Given the description of an element on the screen output the (x, y) to click on. 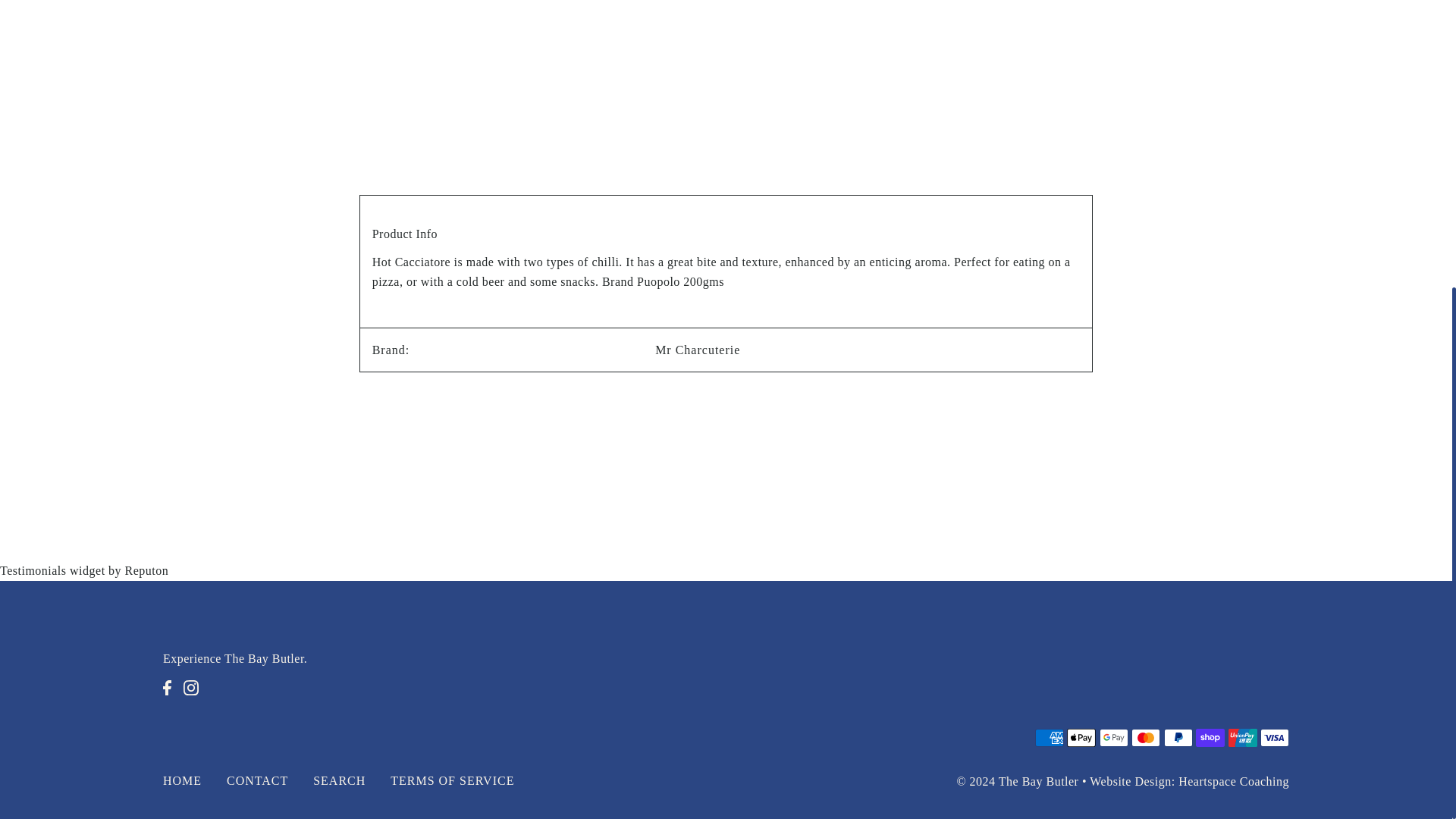
Apple Pay (1081, 737)
Shop Pay (1209, 737)
PayPal (1177, 737)
Google Pay (1113, 737)
Visa (1274, 737)
Union Pay (1242, 737)
American Express (1049, 737)
Mastercard (1145, 737)
